Given the description of an element on the screen output the (x, y) to click on. 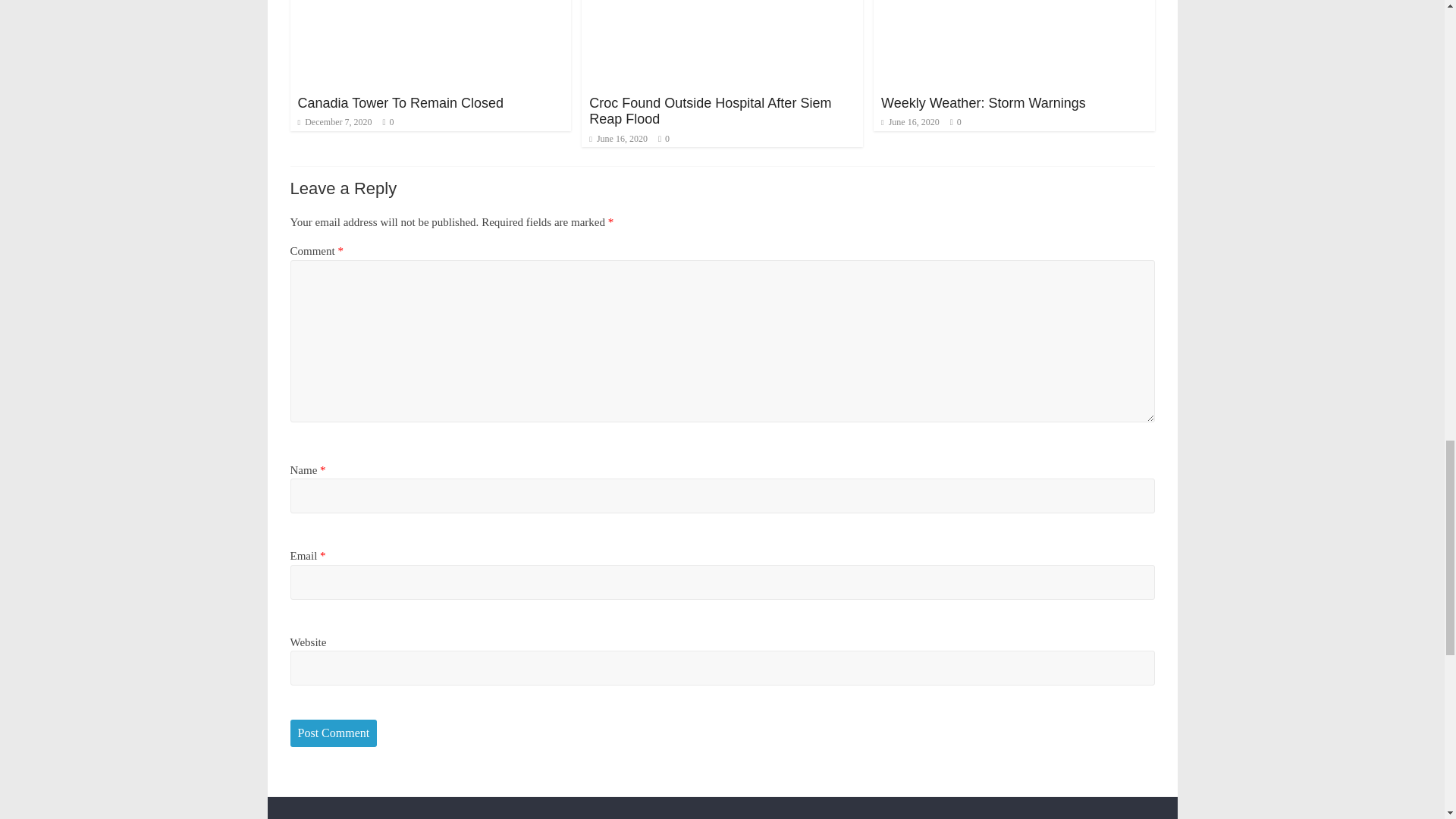
10:29 am (618, 138)
Post Comment (333, 732)
December 7, 2020 (334, 122)
Croc Found Outside Hospital After Siem Reap Flood (710, 111)
Canadia Tower To Remain Closed (400, 102)
2:26 pm (334, 122)
Canadia Tower To Remain Closed (400, 102)
